Given the description of an element on the screen output the (x, y) to click on. 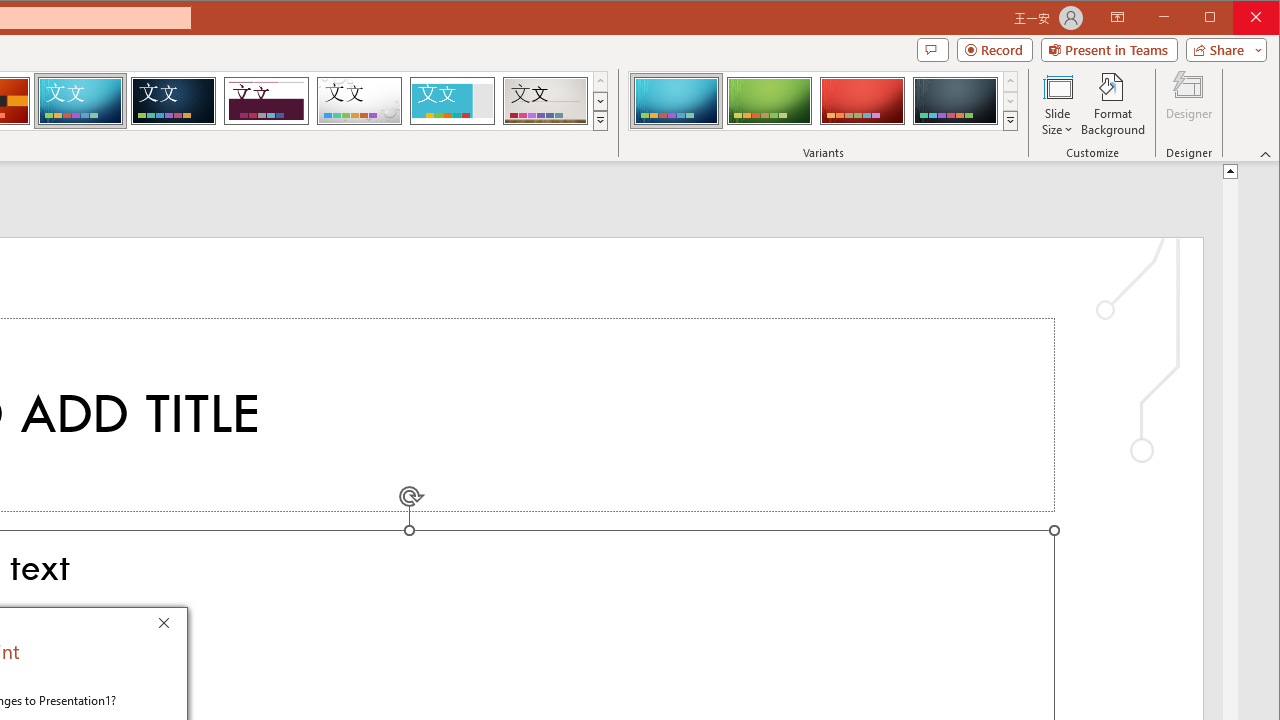
Row Down (1010, 101)
Circuit (80, 100)
Designer (1188, 104)
Circuit Variant 2 (769, 100)
Circuit Variant 1 (676, 100)
Circuit Variant 3 (862, 100)
Frame (452, 100)
Droplet (359, 100)
